Given the description of an element on the screen output the (x, y) to click on. 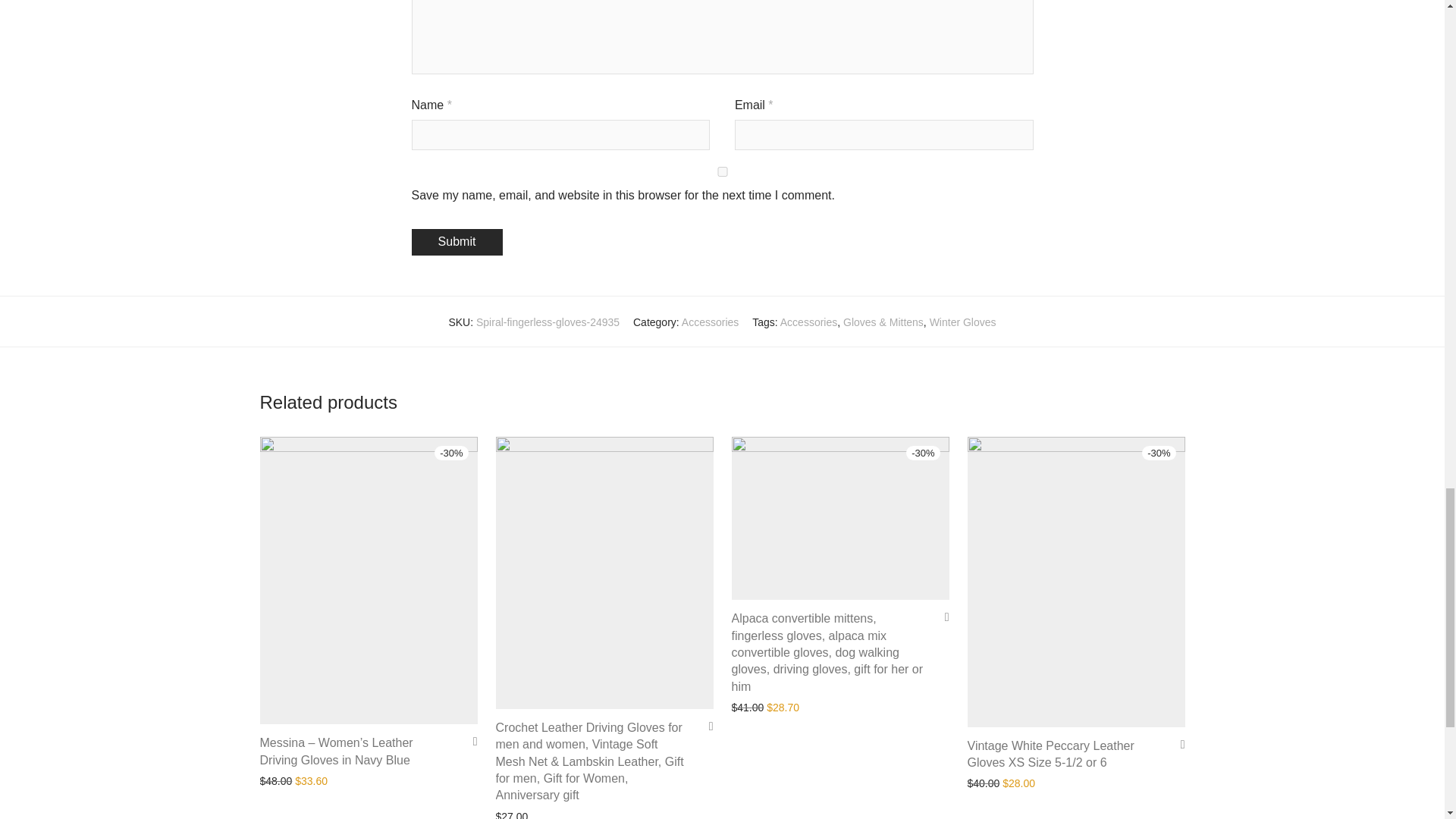
Winter Gloves (962, 322)
Add to Wishlist (705, 725)
Accessories (709, 322)
Add to Wishlist (941, 616)
Add to Wishlist (470, 740)
Submit (456, 242)
Accessories (808, 322)
yes (721, 171)
Submit (456, 242)
Add to Wishlist (1177, 744)
